Given the description of an element on the screen output the (x, y) to click on. 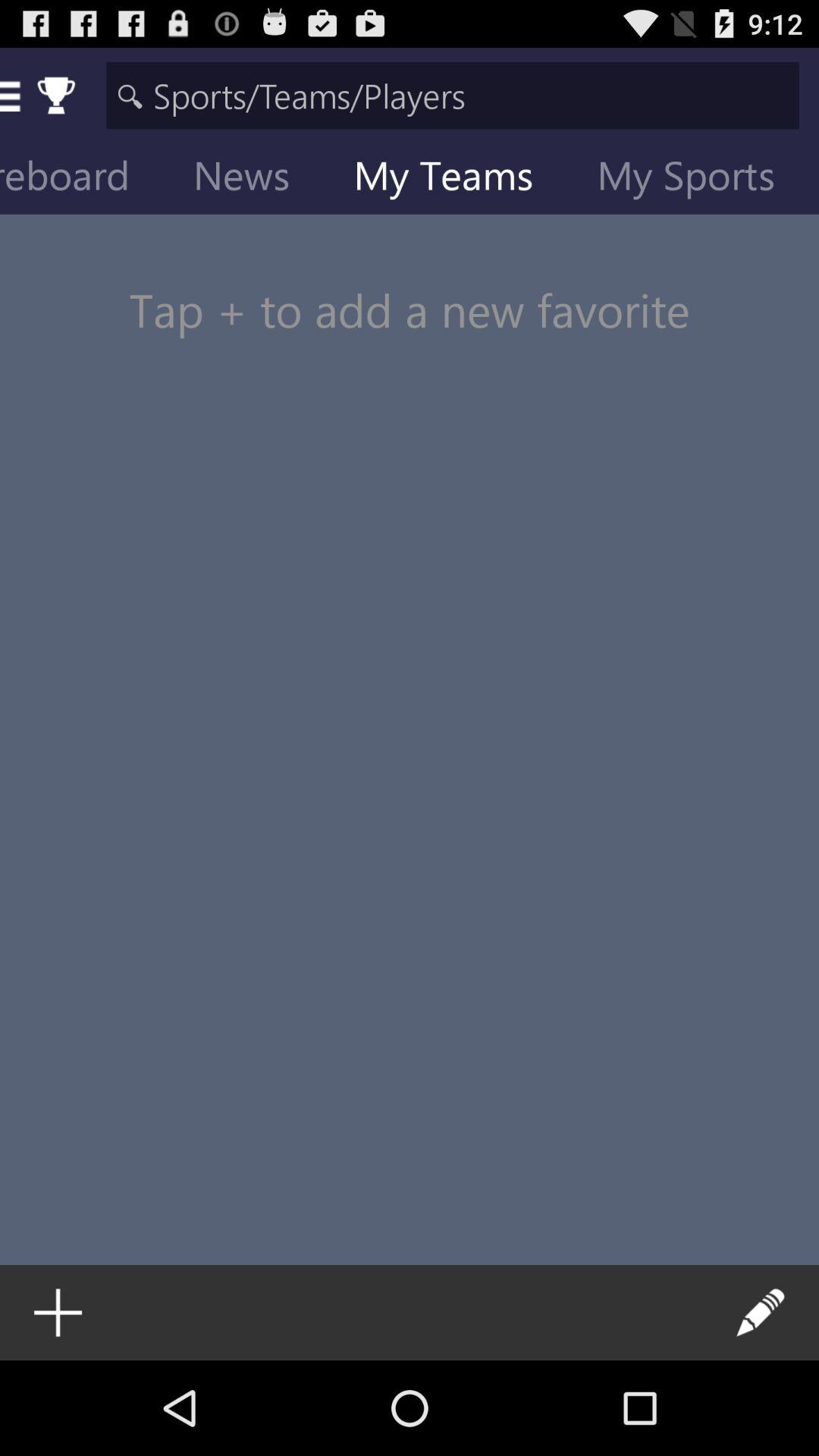
launch tap to add (409, 280)
